Given the description of an element on the screen output the (x, y) to click on. 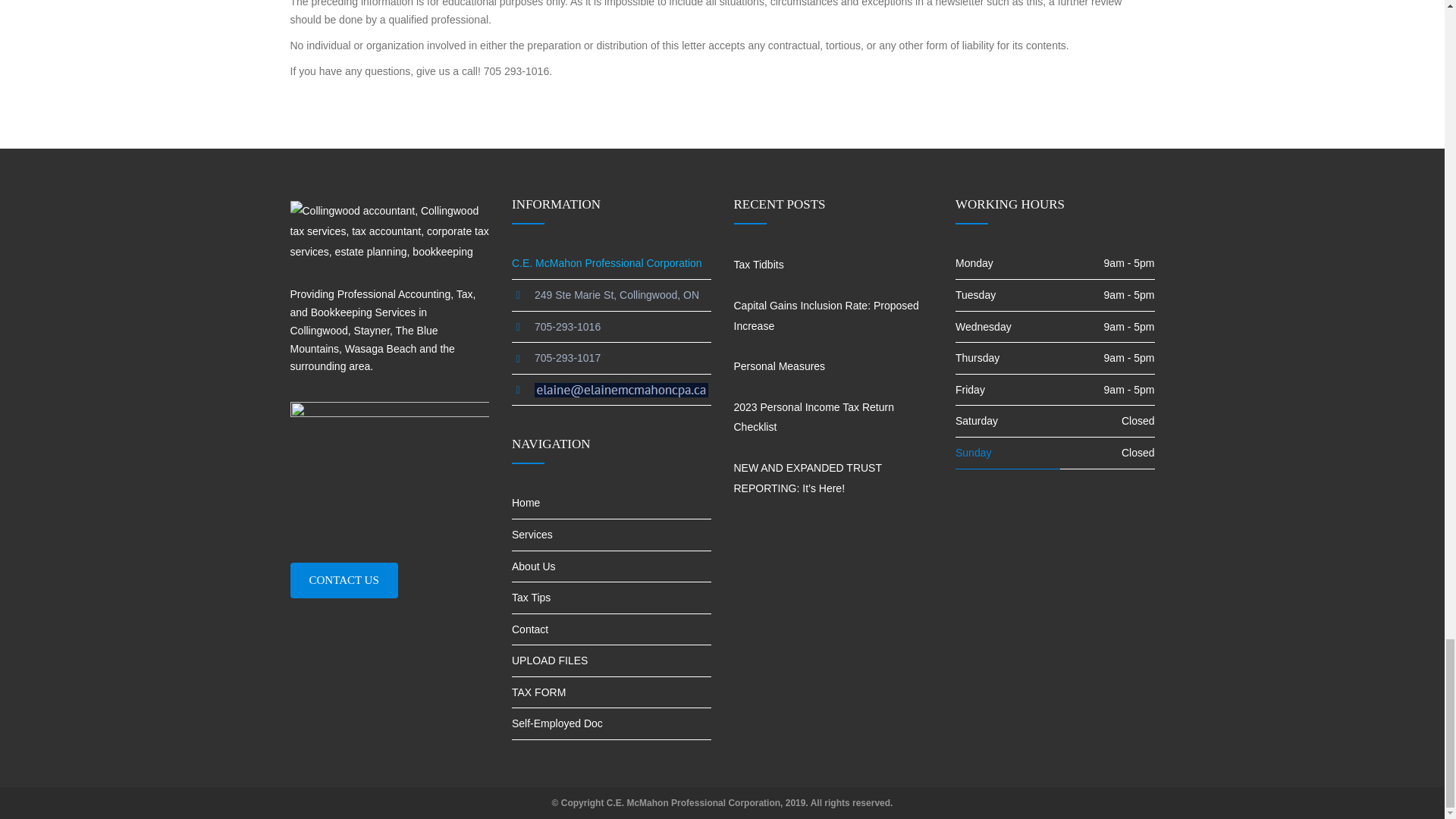
CONTACT US (343, 580)
Home (611, 503)
Services (611, 534)
705-293-1016 (566, 326)
705-293-1017 (566, 357)
